Given the description of an element on the screen output the (x, y) to click on. 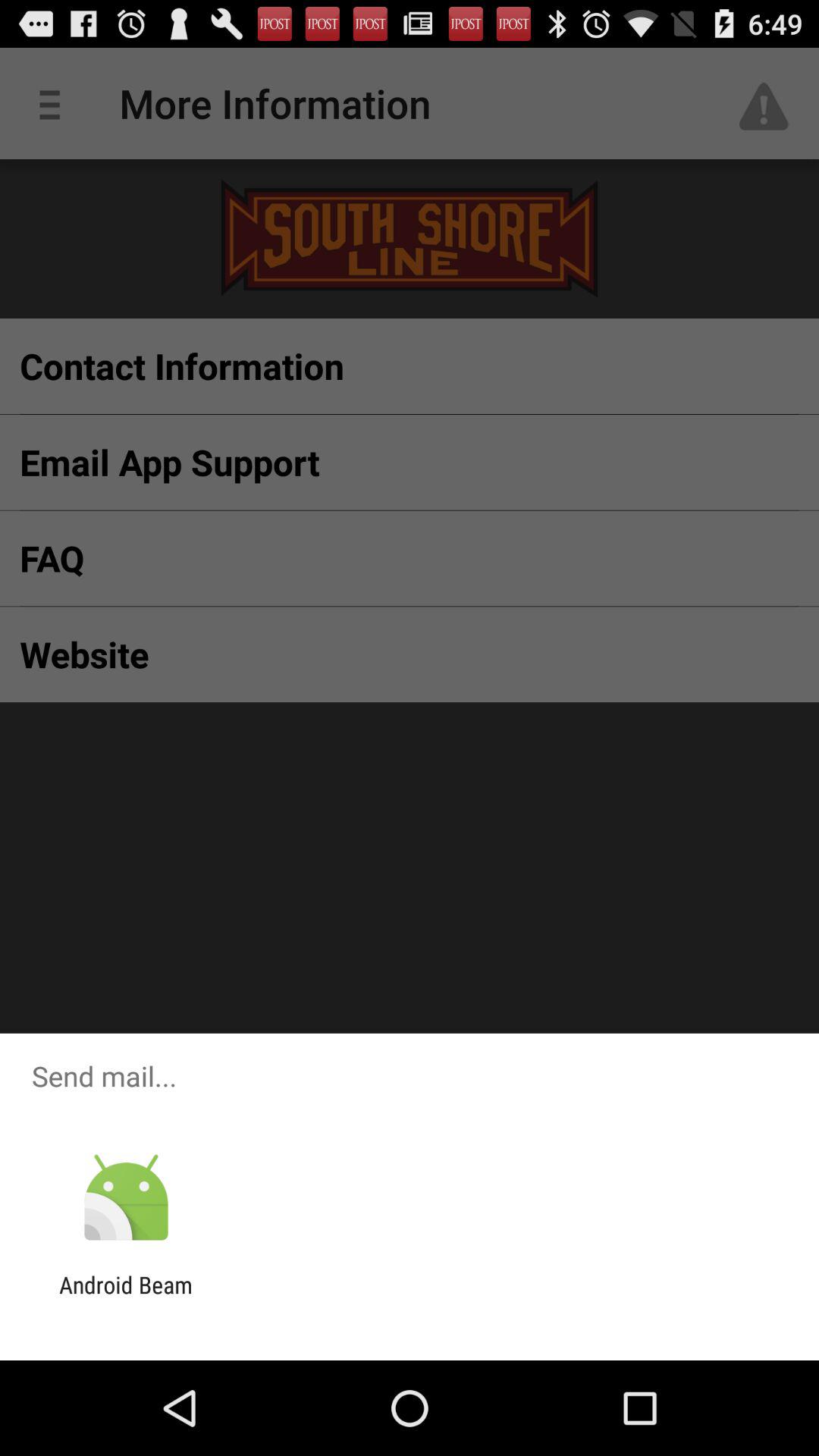
scroll until the android beam icon (125, 1298)
